Given the description of an element on the screen output the (x, y) to click on. 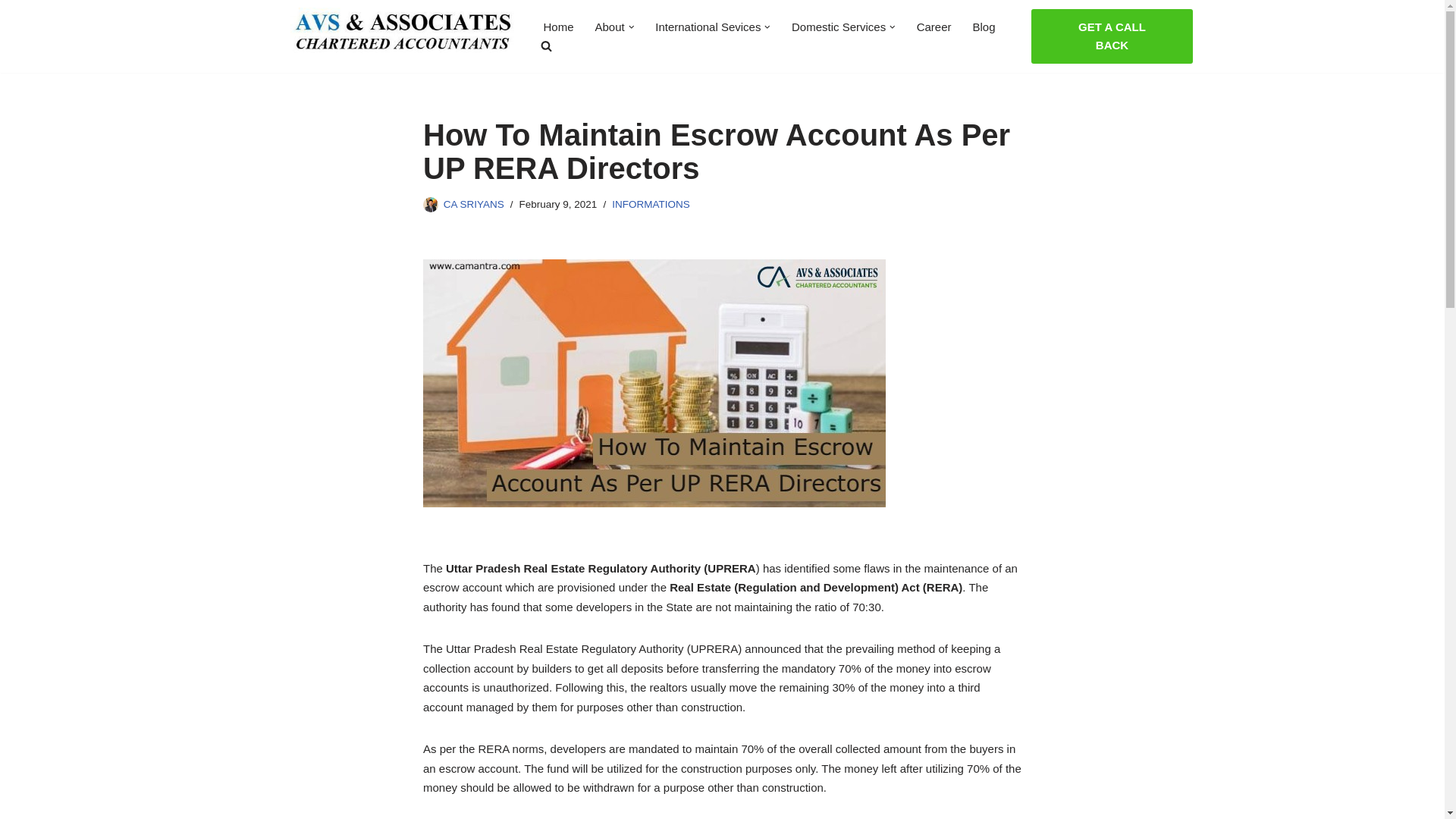
About (609, 26)
Domestic Services (838, 26)
Skip to content (11, 31)
International Sevices (707, 26)
Home (558, 26)
Posts by CA SRIYANS (473, 204)
